Given the description of an element on the screen output the (x, y) to click on. 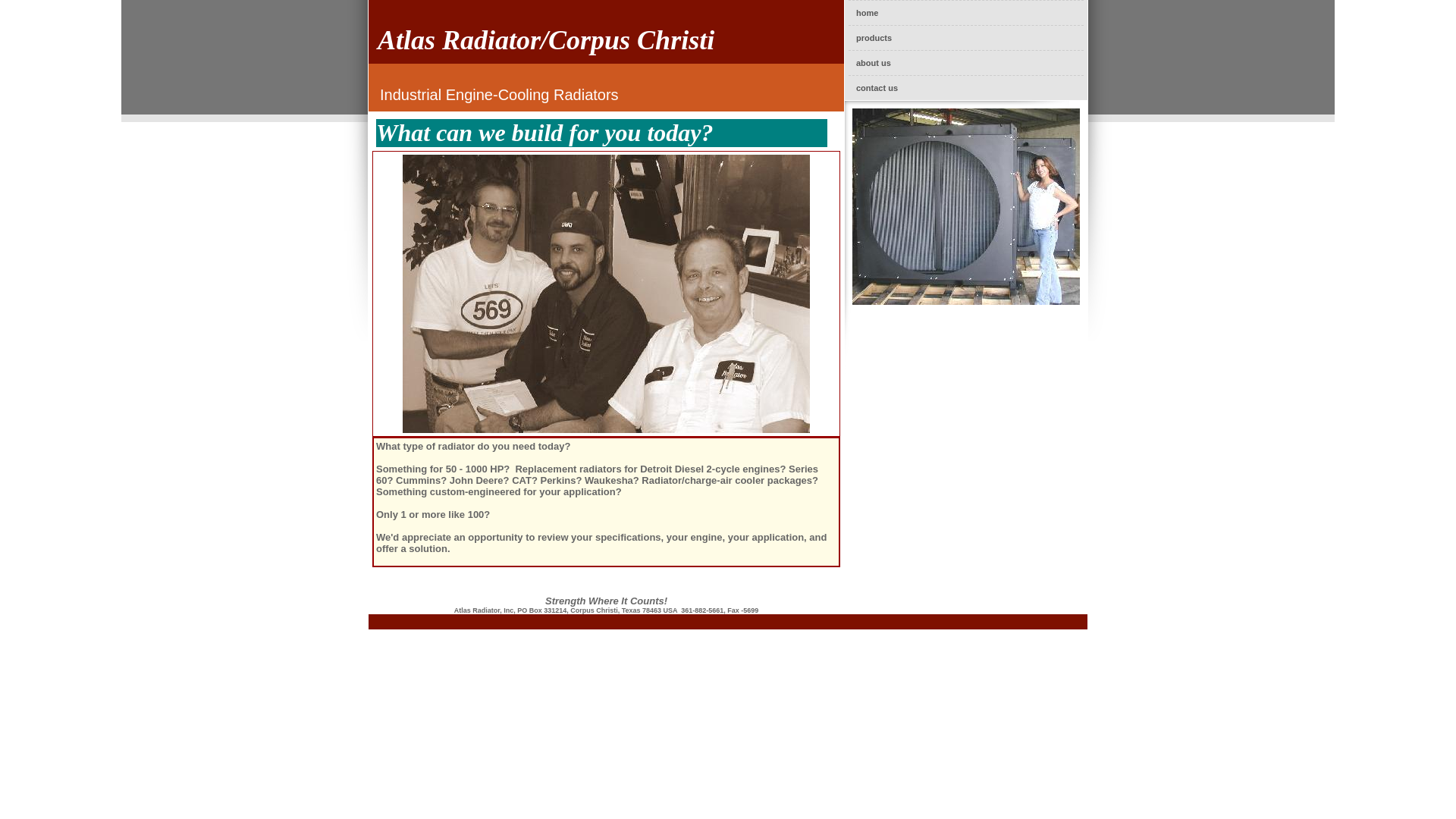
contact us Element type: text (965, 87)
about us Element type: text (965, 62)
products Element type: text (965, 37)
home Element type: text (965, 12)
